Given the description of an element on the screen output the (x, y) to click on. 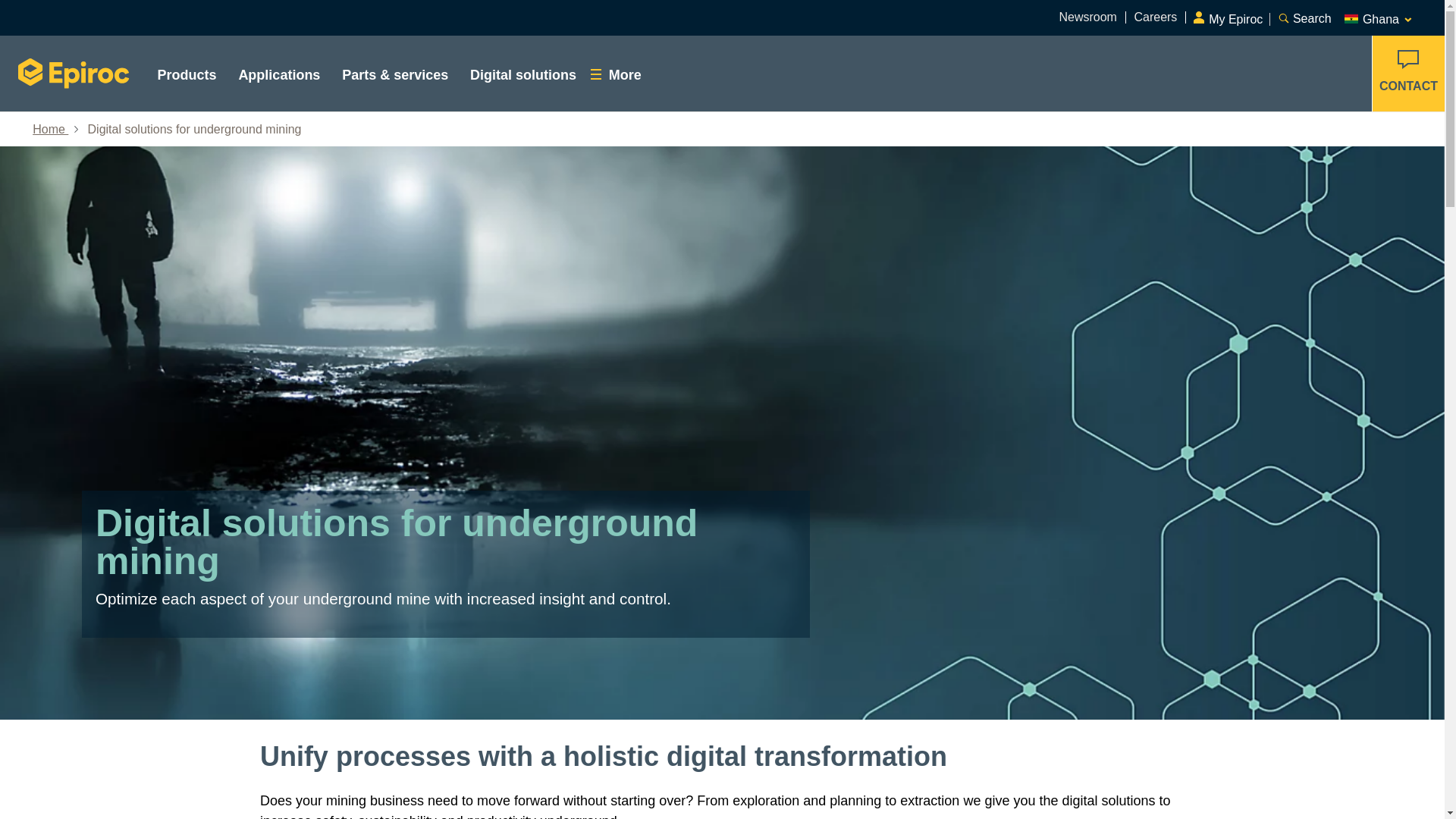
My Epiroc (1230, 13)
Ghana (1378, 17)
Search (1302, 17)
Careers (1154, 17)
Newsroom (1087, 17)
